Given the description of an element on the screen output the (x, y) to click on. 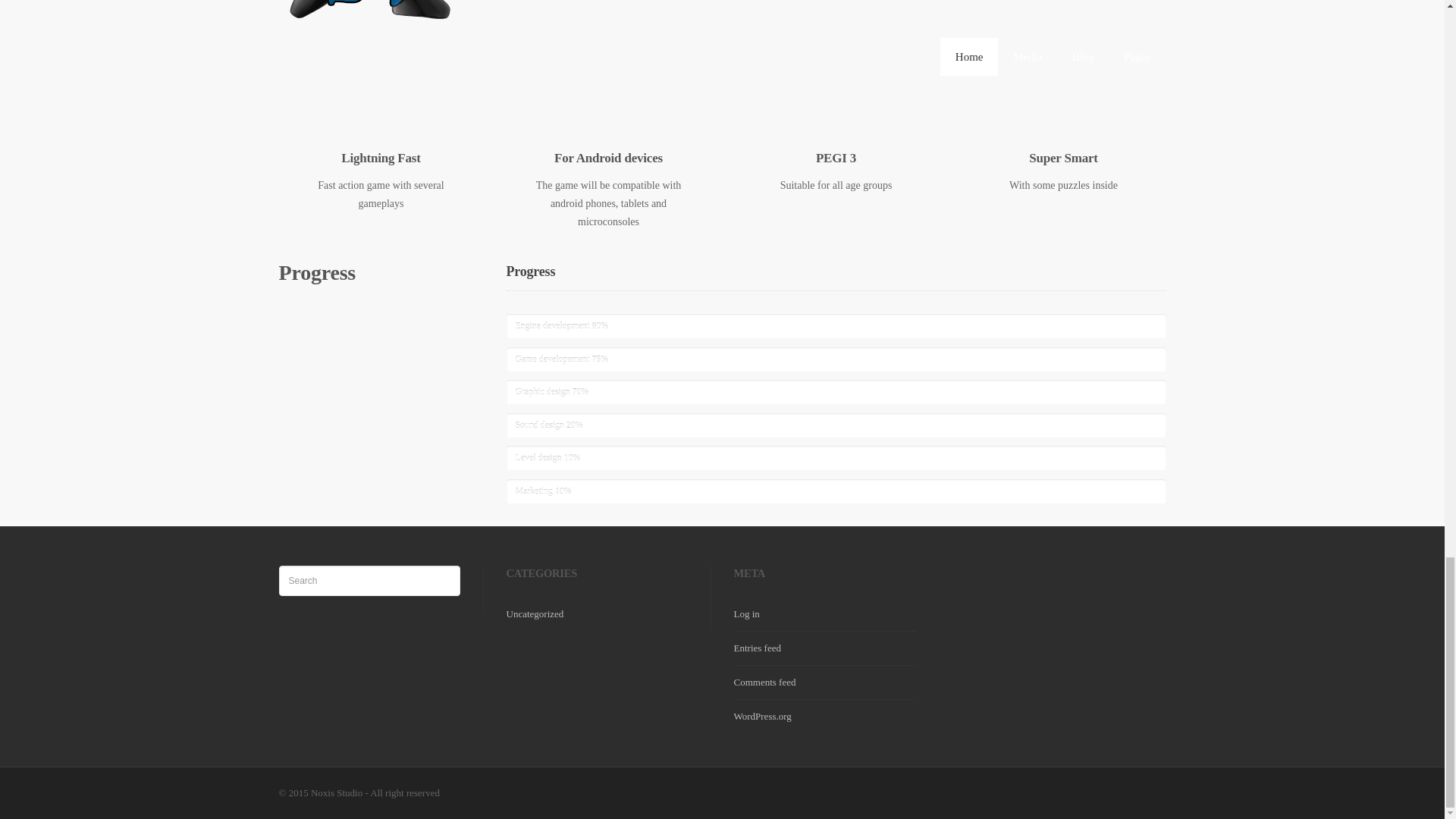
Comments feed (764, 681)
Entries feed (756, 647)
Log in (746, 613)
Uncategorized (535, 613)
